Given the description of an element on the screen output the (x, y) to click on. 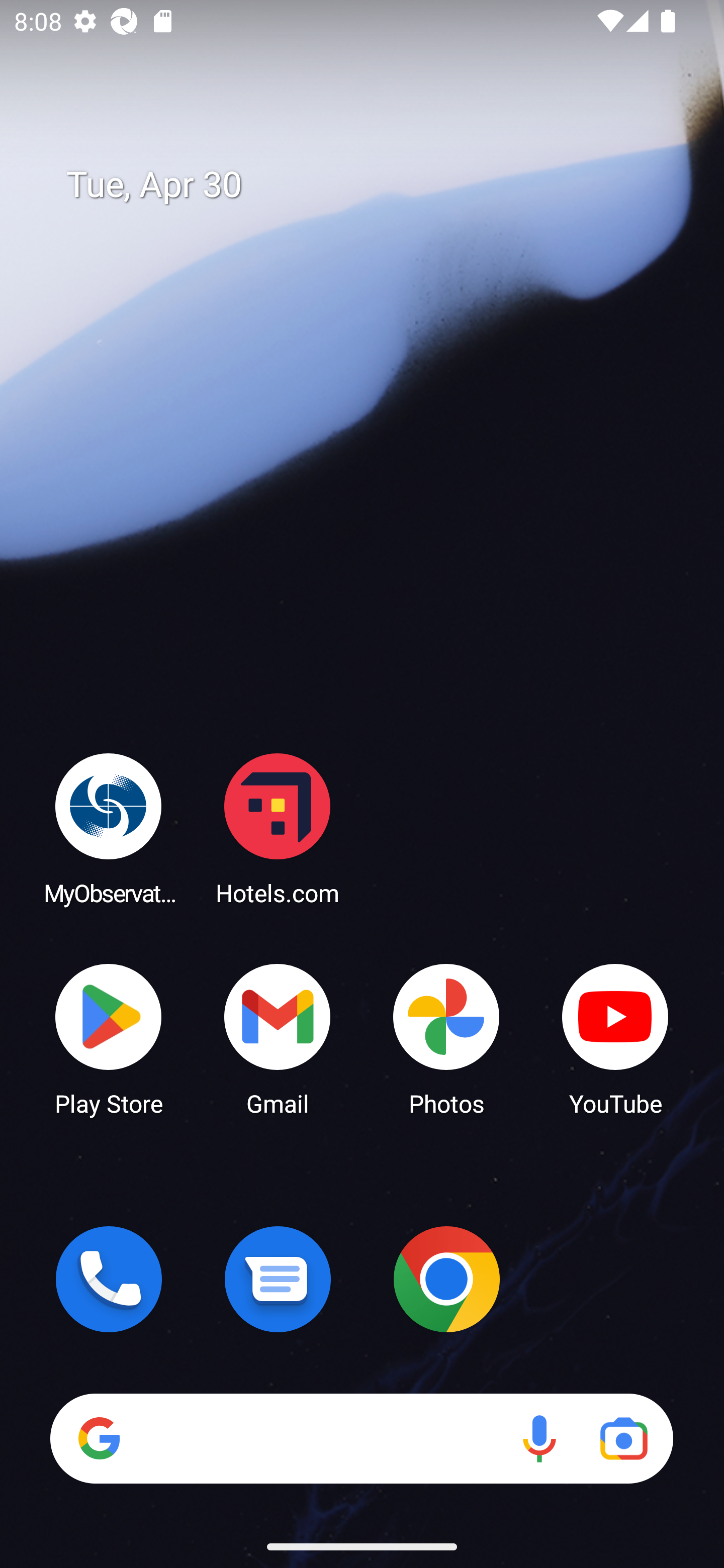
Tue, Apr 30 (375, 184)
MyObservatory (108, 828)
Hotels.com (277, 828)
Play Store (108, 1038)
Gmail (277, 1038)
Photos (445, 1038)
YouTube (615, 1038)
Phone (108, 1279)
Messages (277, 1279)
Search Voice search Google Lens (361, 1438)
Voice search (539, 1438)
Google Lens (623, 1438)
